Given the description of an element on the screen output the (x, y) to click on. 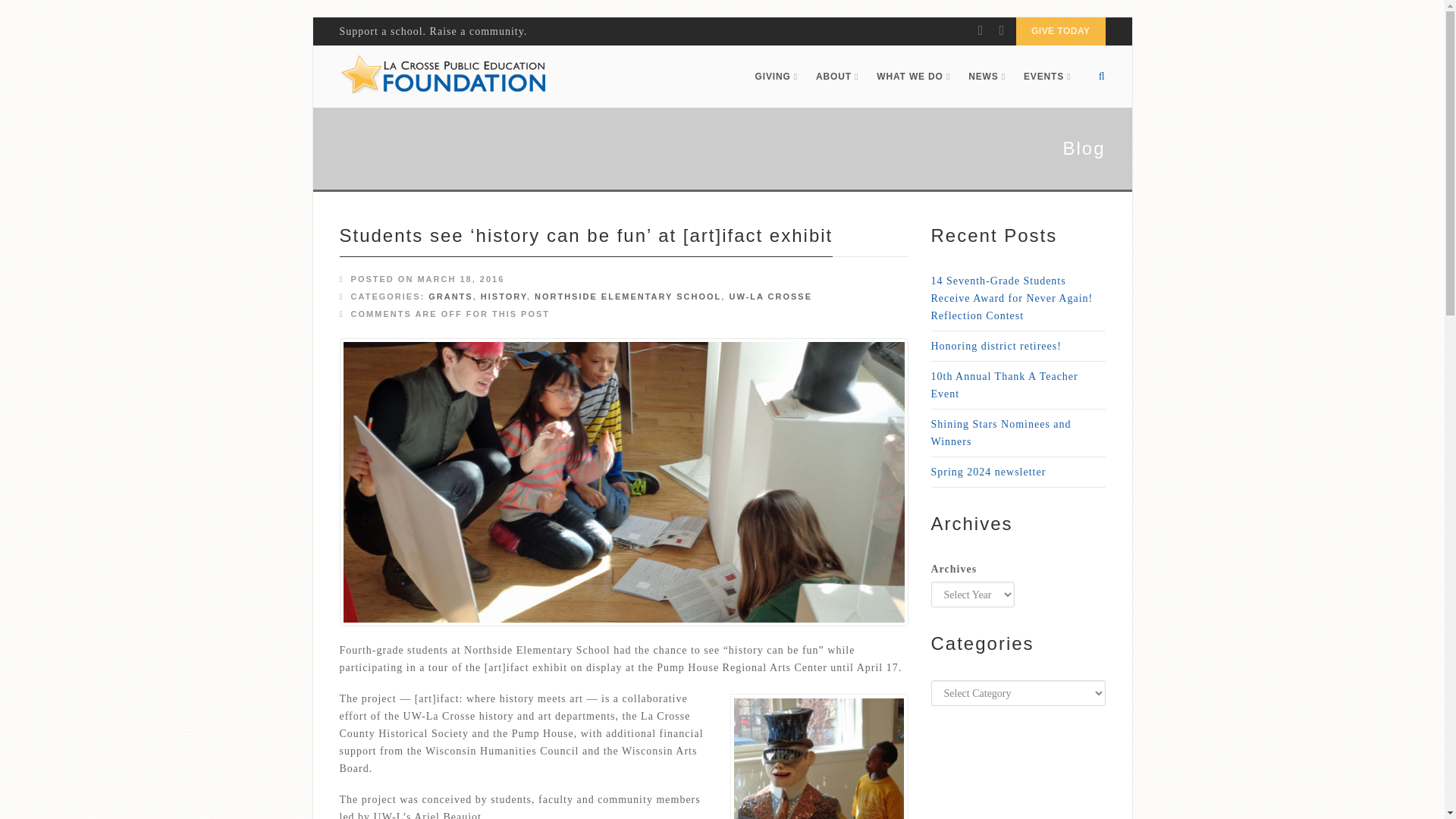
GIVE TODAY (1060, 31)
La Crosse Public Education Foundation (443, 76)
WHAT WE DO (913, 76)
ABOUT (836, 76)
NEWS (986, 76)
GIVING (775, 76)
